Given the description of an element on the screen output the (x, y) to click on. 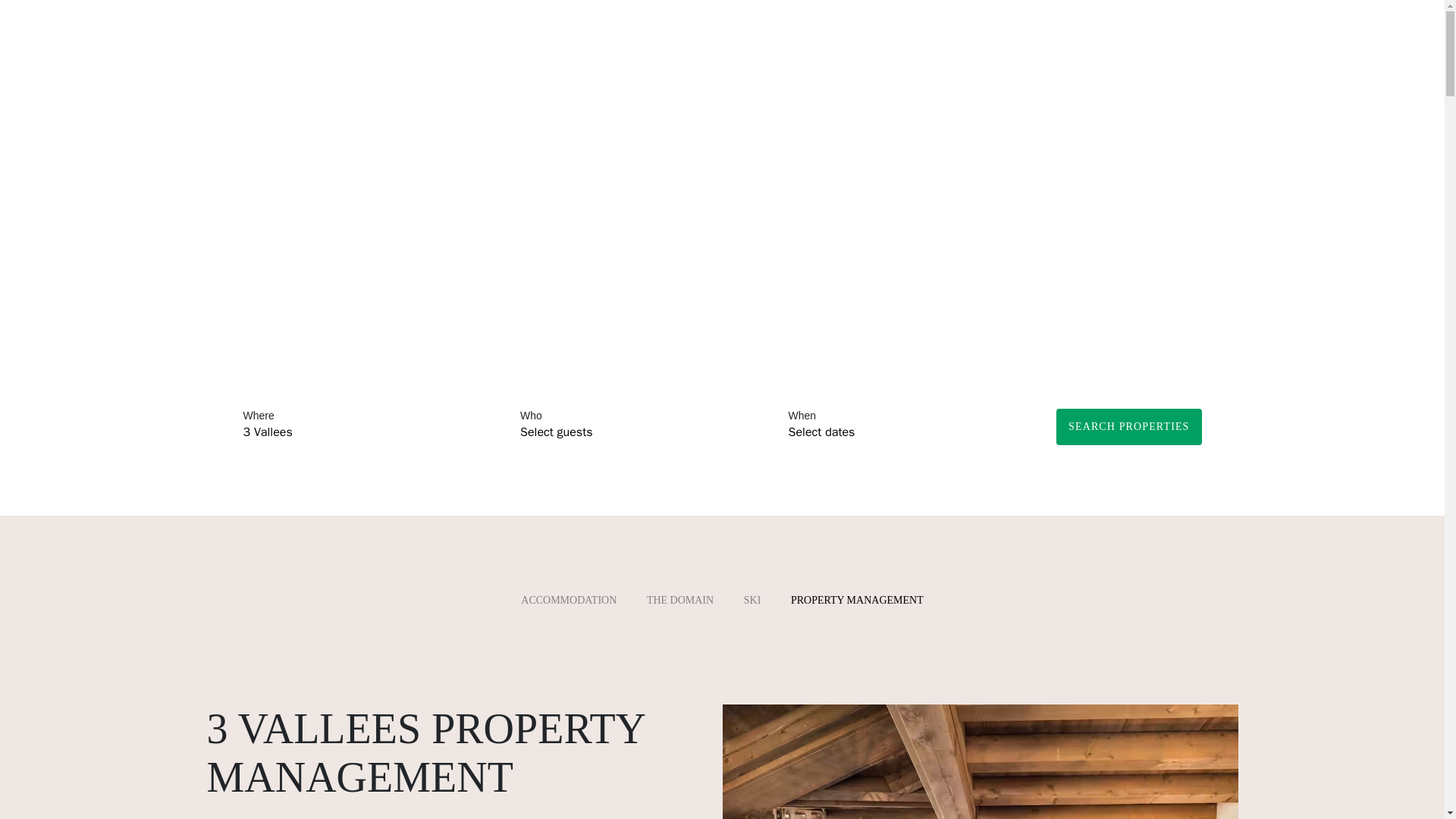
Search (1414, 24)
HOMEOWNERS (726, 23)
DESTINATIONS (630, 23)
INFINITY EDITION (831, 23)
Emerald Stay (101, 23)
Choose Language (1386, 24)
Pays du Mont Blanc property management by Emerald Stay (979, 761)
PROPERTIES (539, 23)
ABOUT US (925, 23)
